Given the description of an element on the screen output the (x, y) to click on. 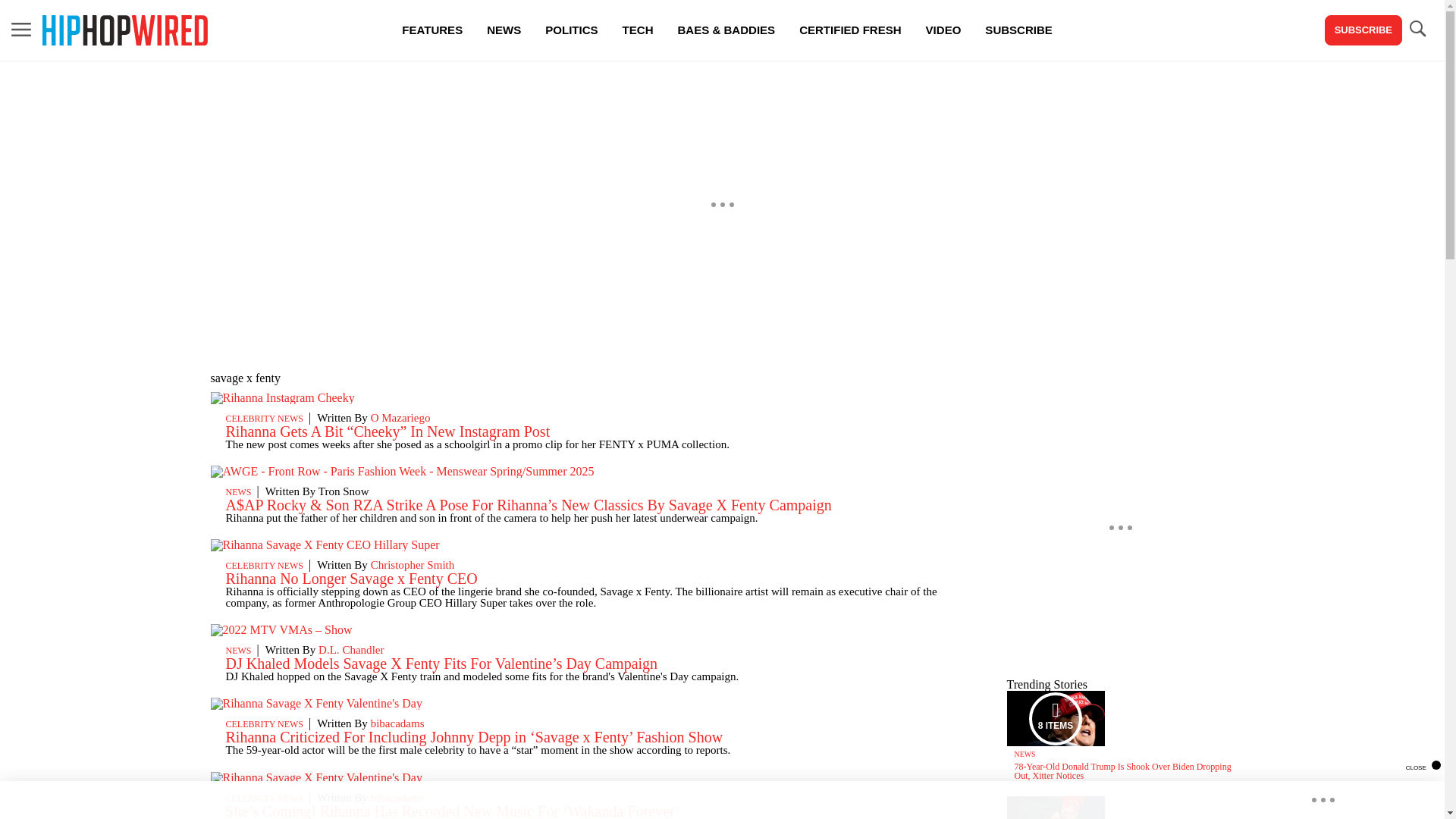
Media Playlist (1055, 717)
MENU (20, 29)
CELEBRITY NEWS (264, 724)
CELEBRITY NEWS (264, 418)
D.L. Chandler (351, 649)
NEWS (238, 491)
VIDEO (944, 30)
TECH (637, 30)
CELEBRITY NEWS (264, 798)
MENU (20, 30)
Rihanna No Longer Savage x Fenty CEO (351, 578)
SUBSCRIBE (1018, 30)
FEATURES (432, 30)
O Mazariego (400, 417)
NEWS (238, 650)
